Given the description of an element on the screen output the (x, y) to click on. 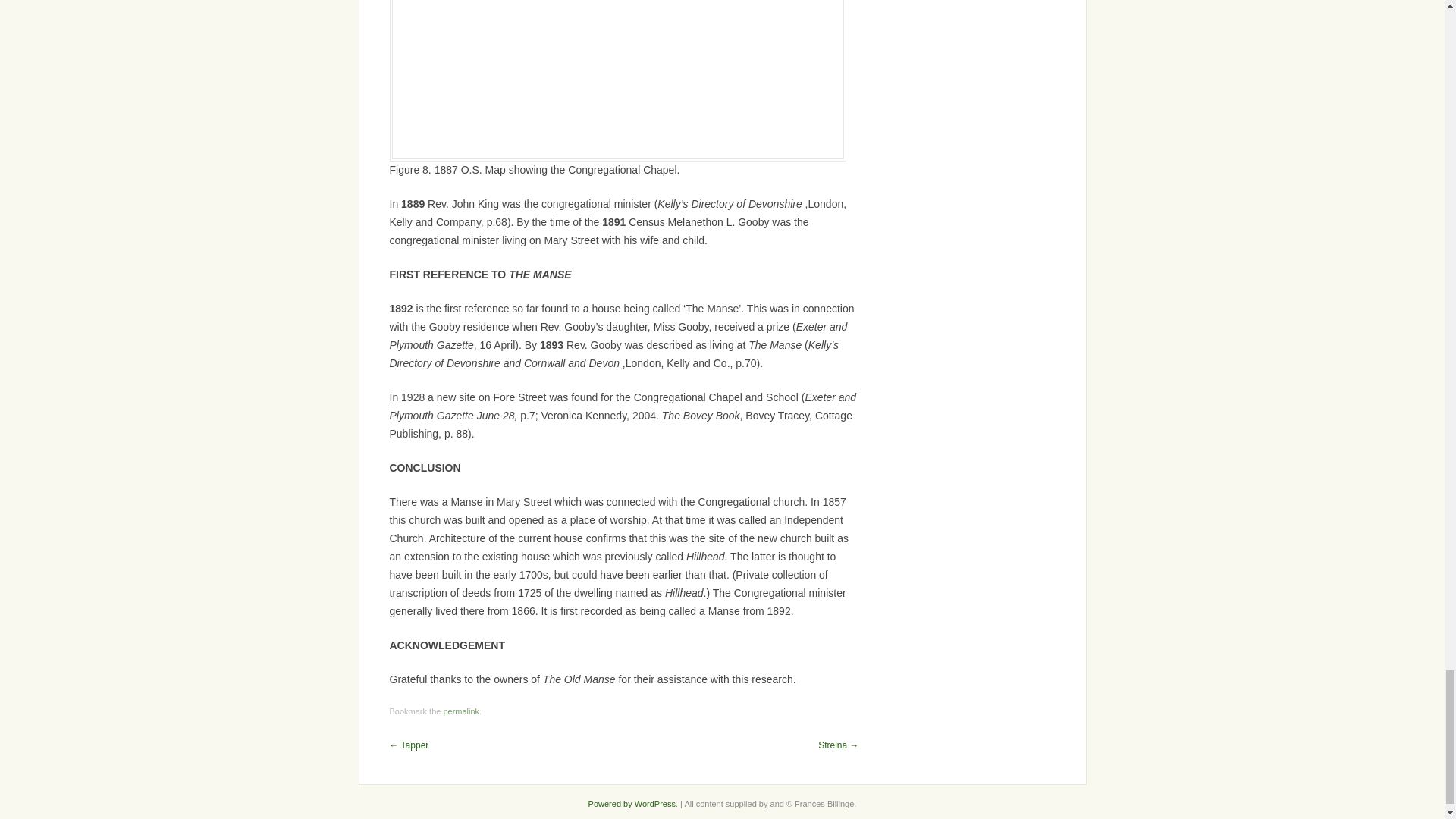
A Semantic Personal Publishing Platform (631, 803)
Permalink to Old Manse (460, 710)
